Given the description of an element on the screen output the (x, y) to click on. 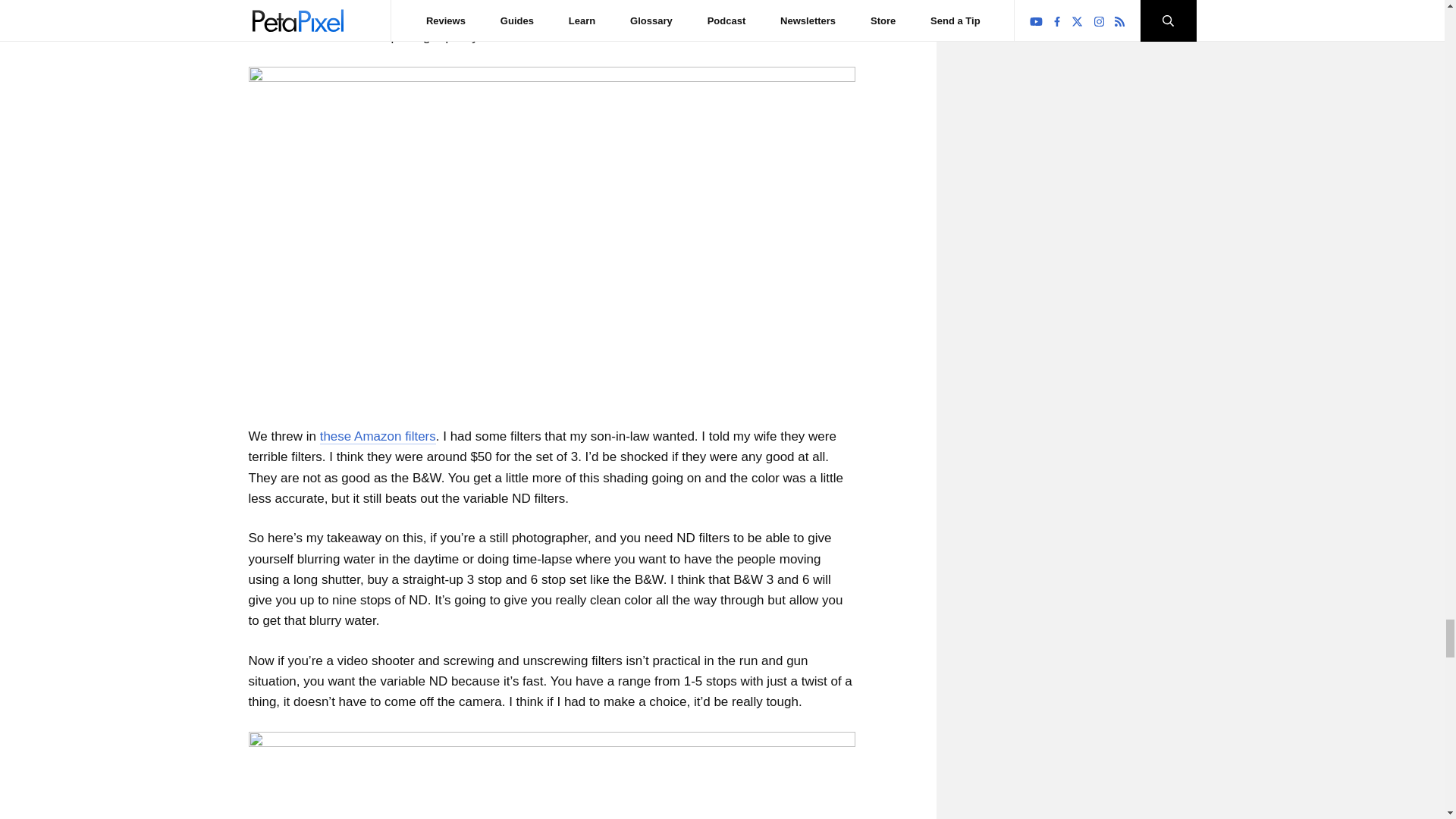
these Amazon filters (377, 436)
